Given the description of an element on the screen output the (x, y) to click on. 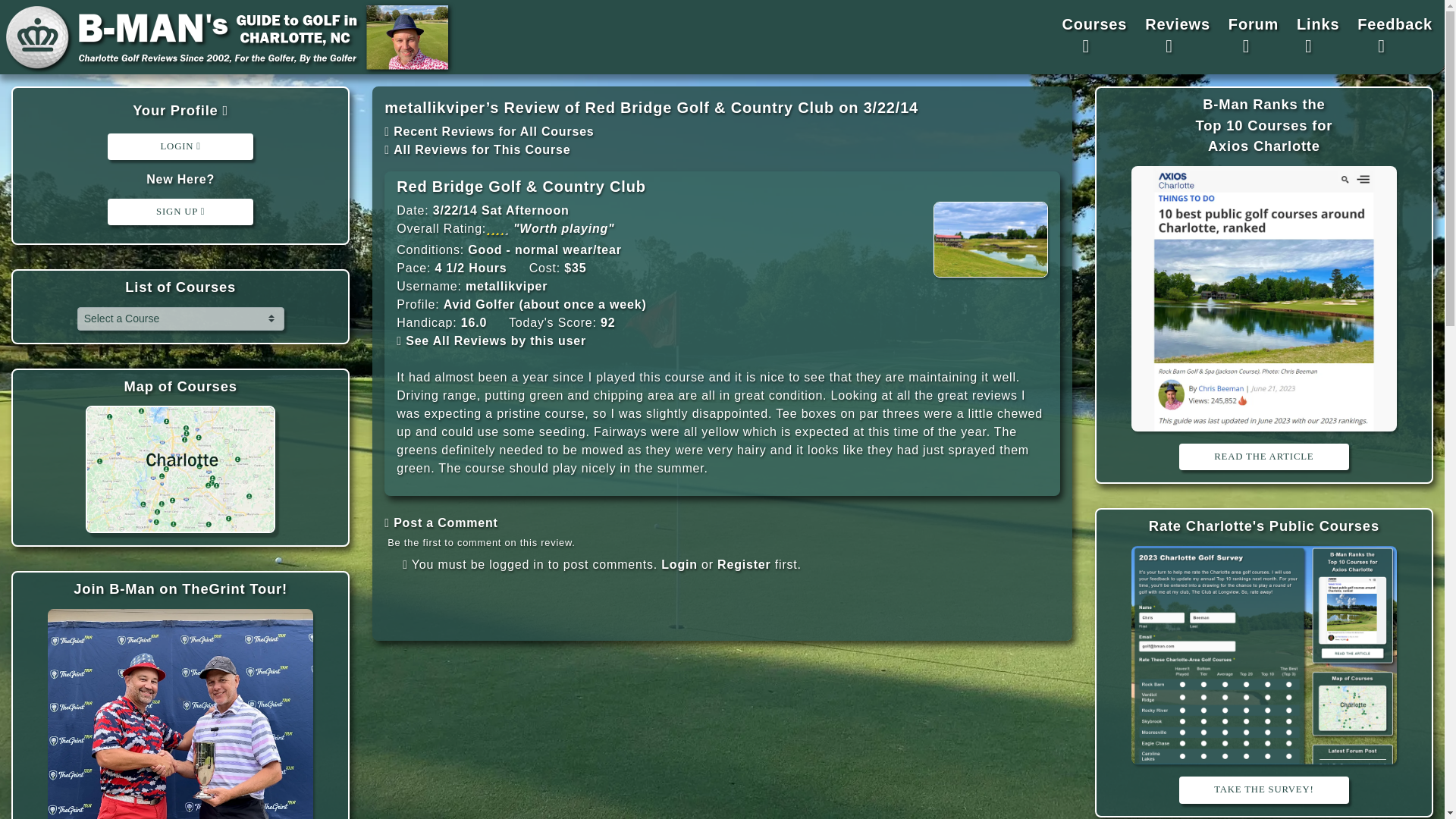
SIGN UP (180, 212)
Join B-Man on TheGrint Tour (180, 588)
Forum (1253, 36)
Join the Forum for Golf in Charlotte NC (1253, 36)
See the full list of Charlotte area golf courses (180, 286)
LOGIN (180, 146)
metallikviper (506, 286)
Explore Links to Other Charlotte NC Golf Resources (1317, 36)
Reviews (1176, 36)
See more reviews by this user (506, 286)
Login (679, 563)
Feedback (1394, 36)
